Given the description of an element on the screen output the (x, y) to click on. 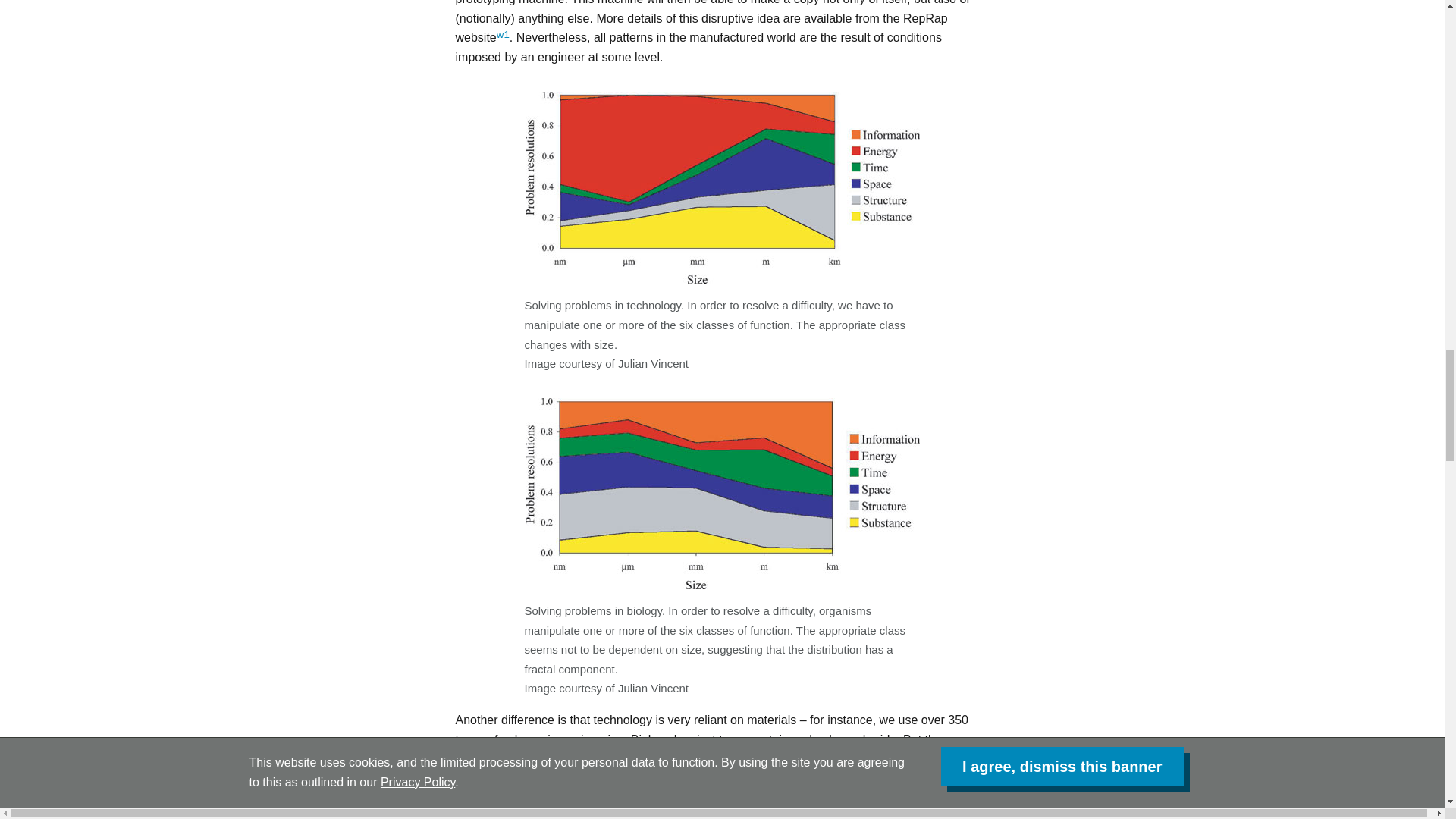
w1 (502, 34)
